Given the description of an element on the screen output the (x, y) to click on. 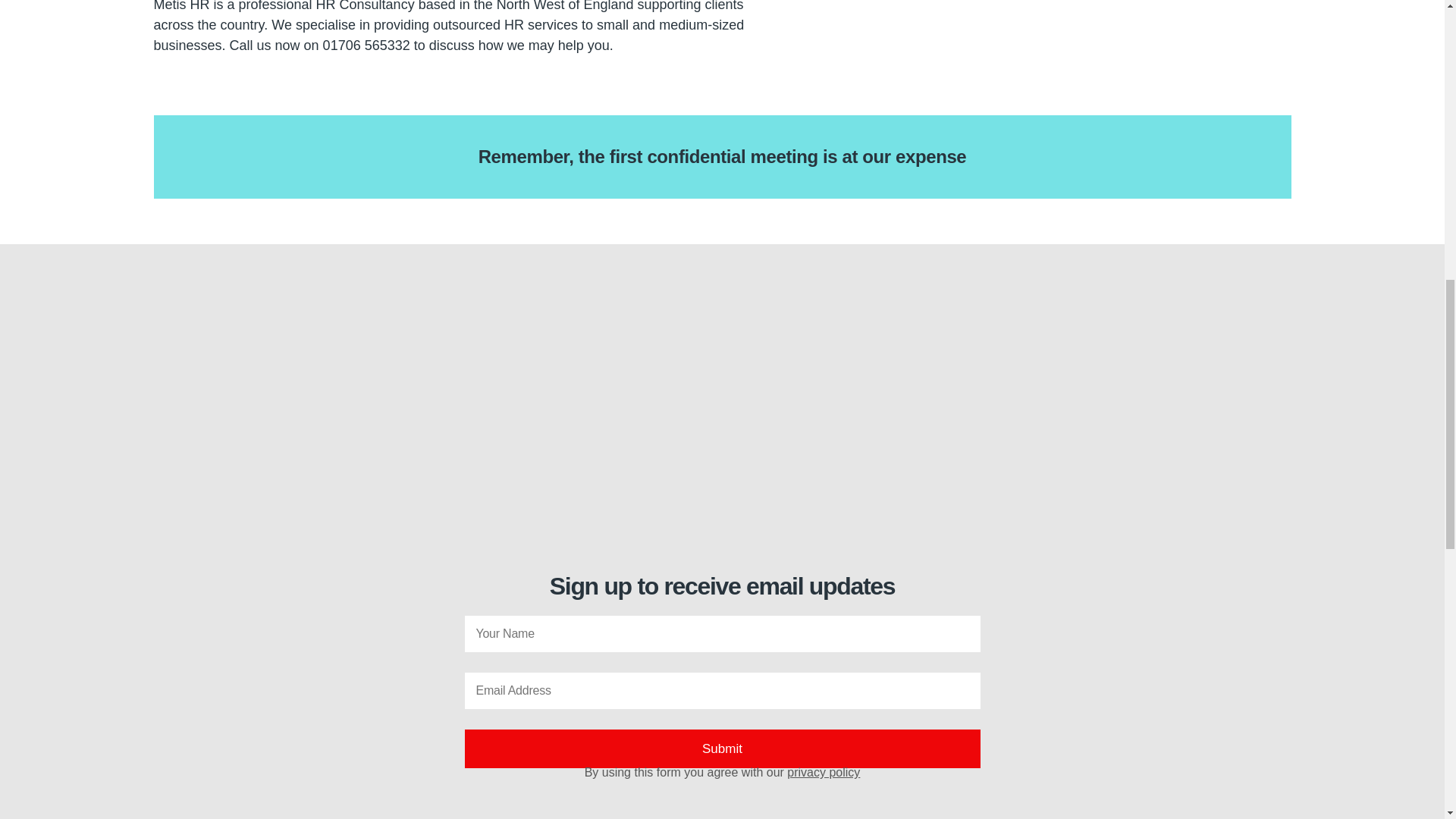
Submit (721, 748)
